Given the description of an element on the screen output the (x, y) to click on. 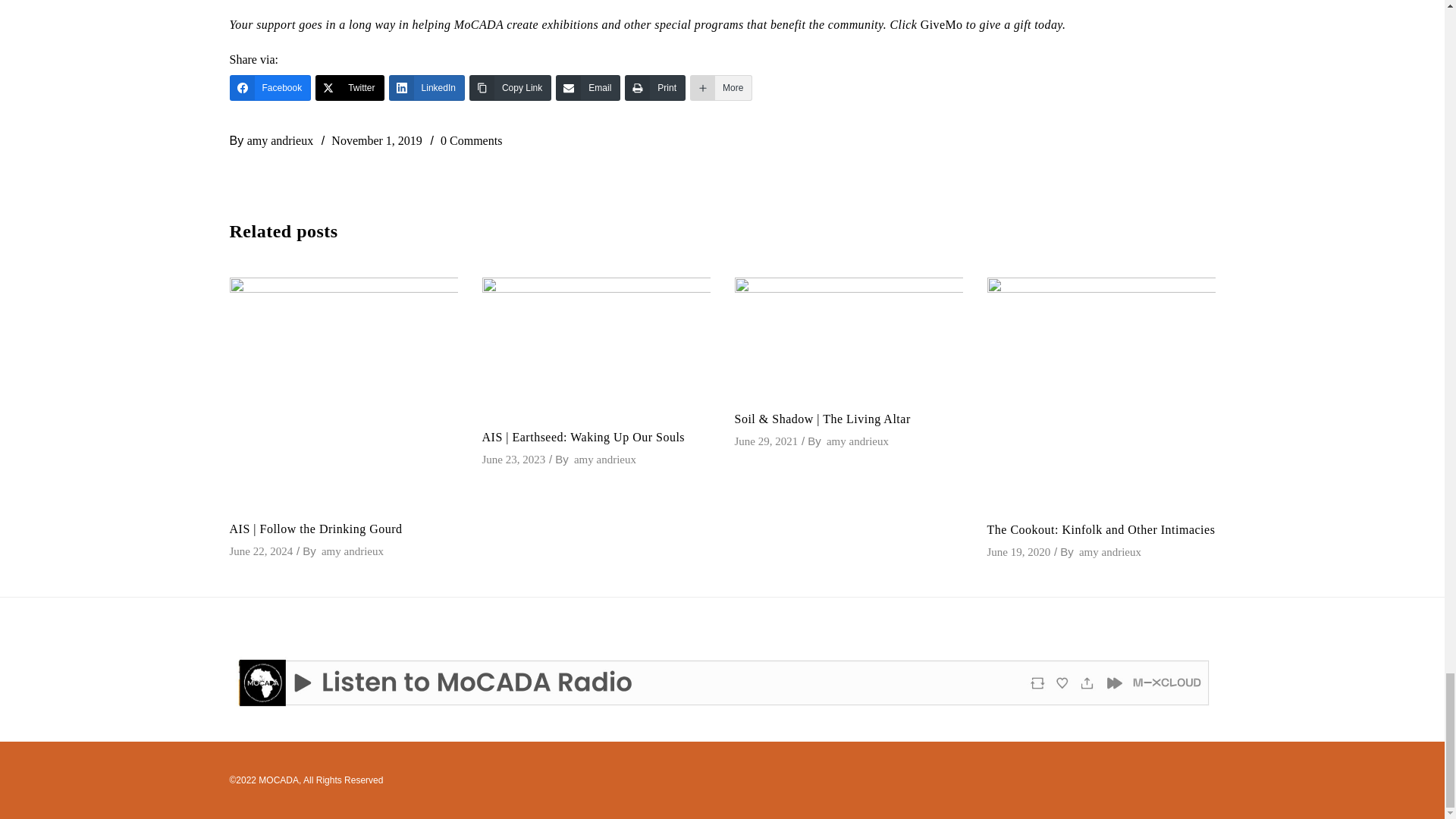
The Cookout: Kinfolk and Other Intimacies (1101, 391)
The Cookout: Kinfolk and Other Intimacies (1101, 529)
